Given the description of an element on the screen output the (x, y) to click on. 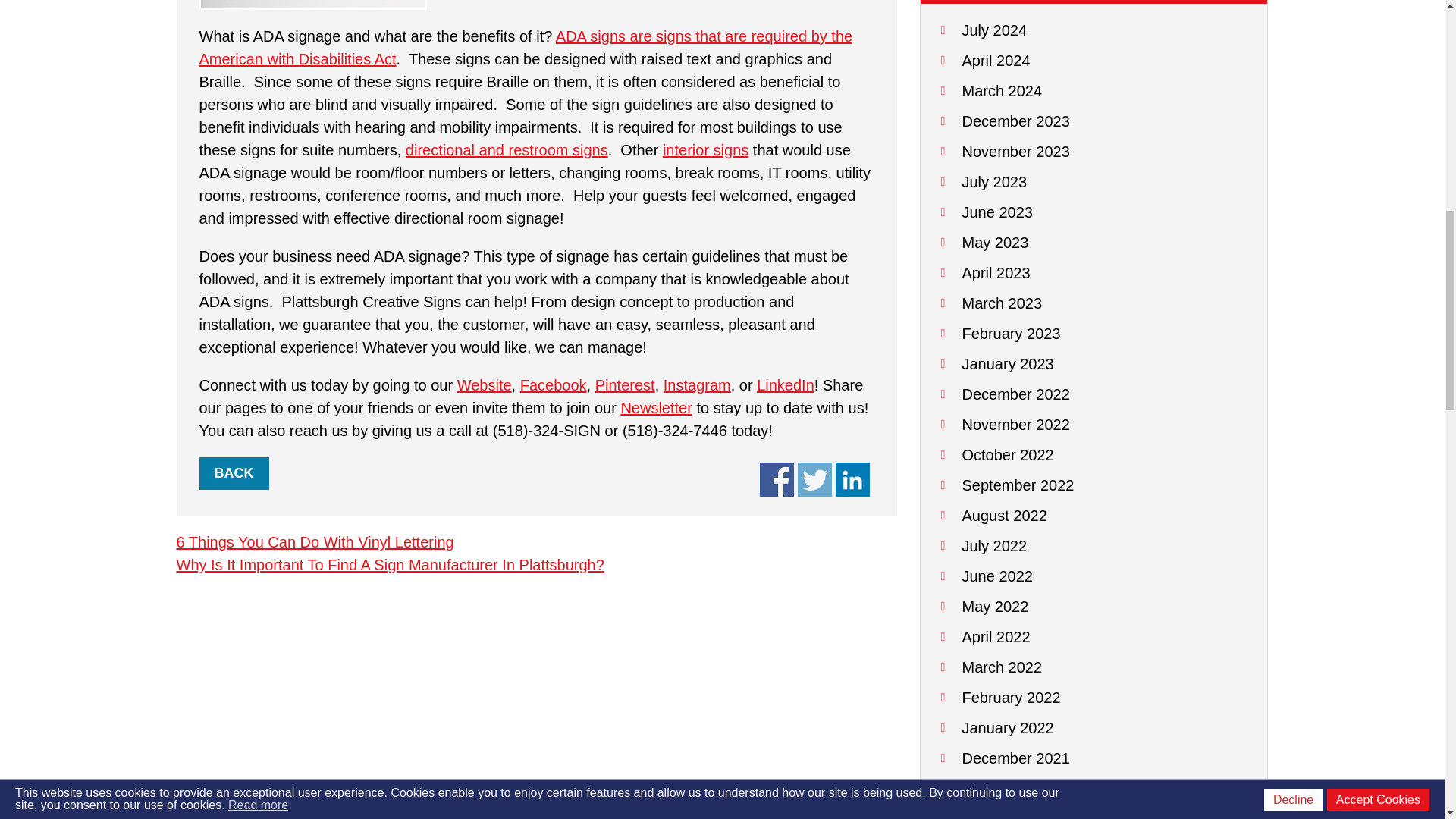
Benefits Of ADA Signage! (852, 479)
Benefits Of ADA Signage! (814, 479)
Benefits Of ADA Signage! (776, 479)
